Given the description of an element on the screen output the (x, y) to click on. 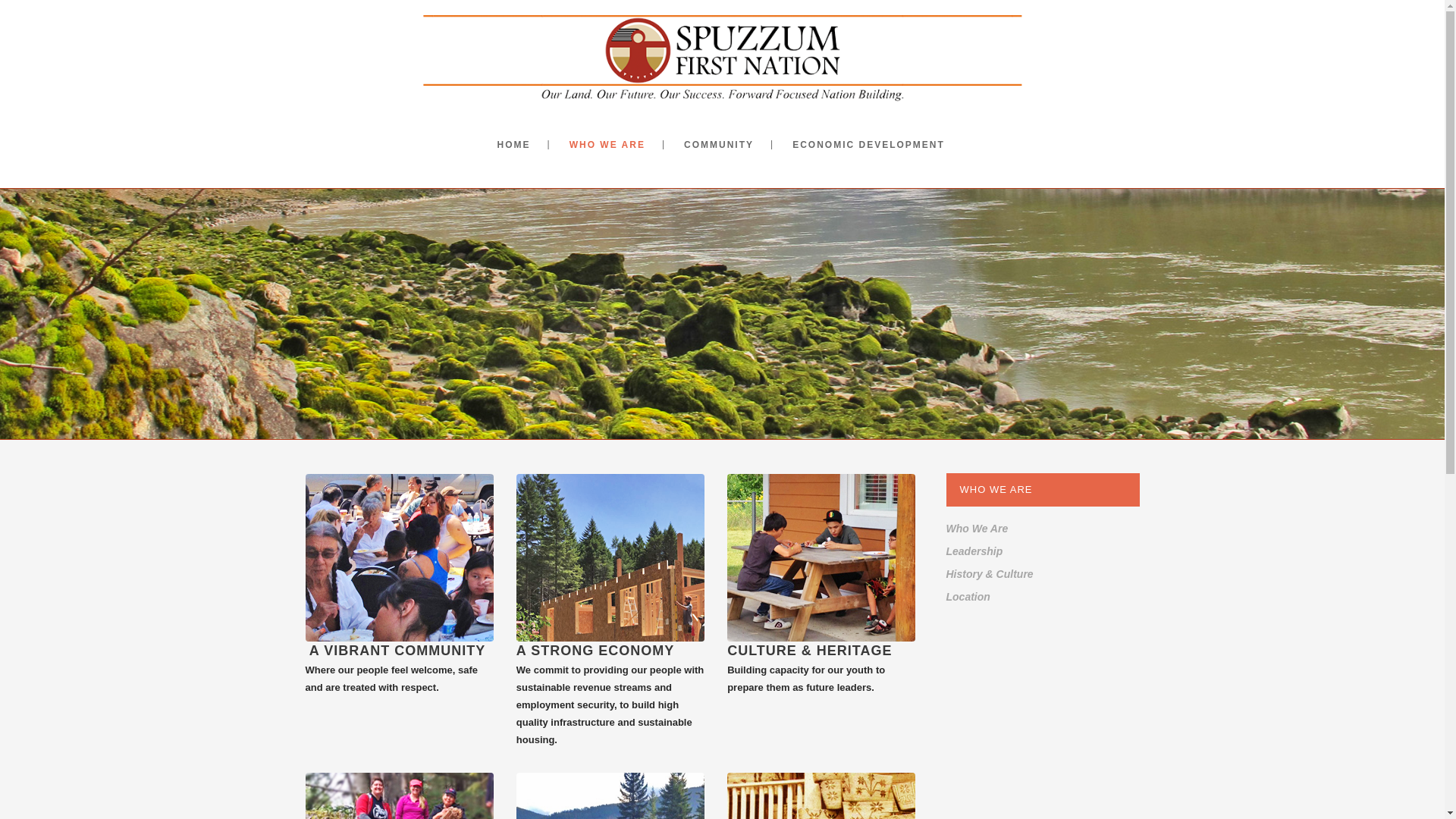
Leadership (974, 551)
ECONOMIC DEVELOPMENT (868, 144)
WHO WE ARE (607, 144)
COMMUNITY (718, 144)
Location (968, 596)
Who We Are (977, 528)
